Given the description of an element on the screen output the (x, y) to click on. 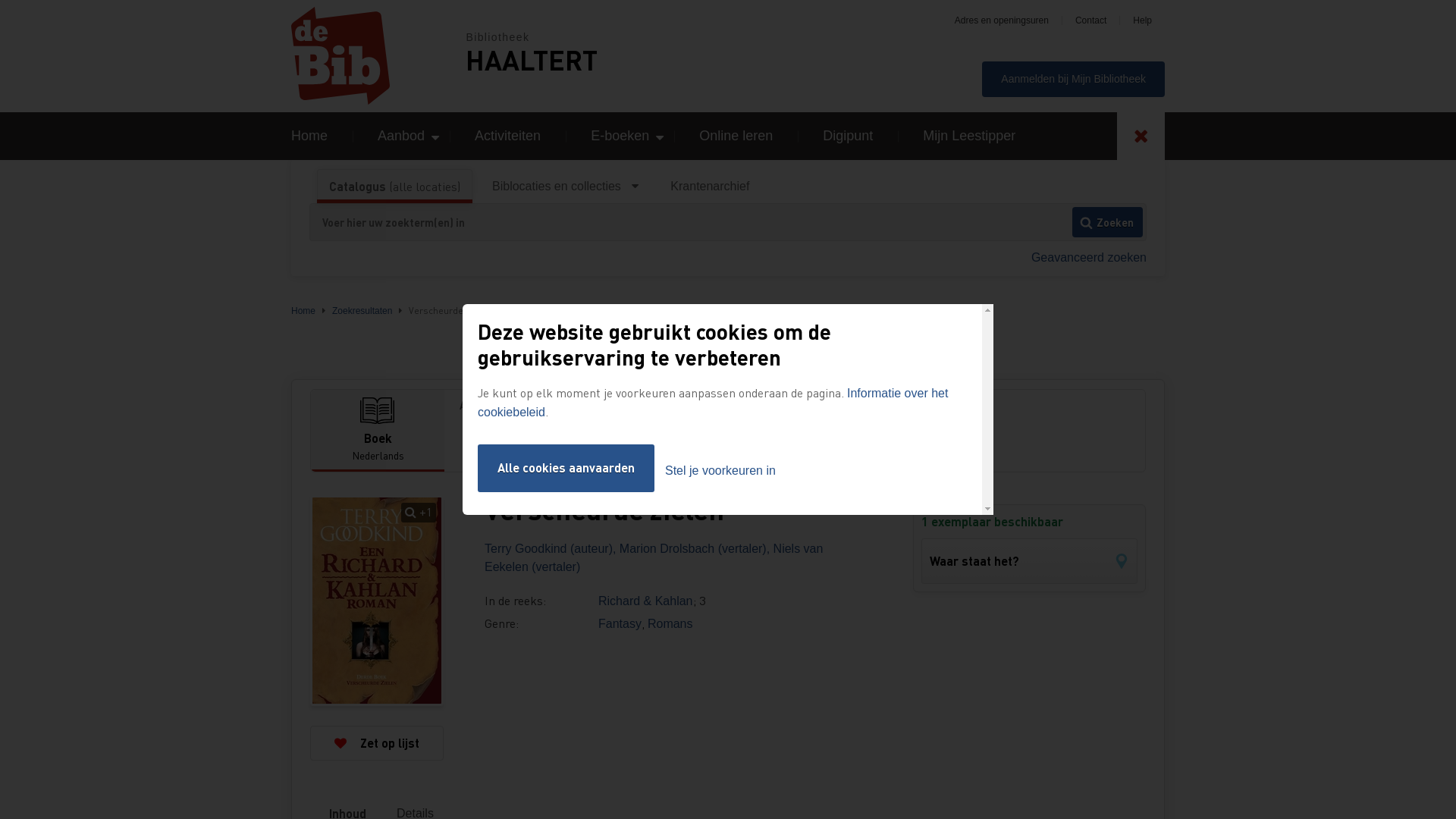
Biblocaties en collecties Element type: text (564, 186)
Digipunt Element type: text (847, 136)
Alle cookies aanvaarden Element type: text (565, 467)
Richard & Kahlan Element type: text (645, 600)
Krantenarchief Element type: text (709, 186)
Mijn Leestipper Element type: text (968, 136)
Romans Element type: text (670, 623)
Stel je voorkeuren in Element type: text (720, 470)
Terry Goodkind (auteur), Element type: text (551, 548)
Andere formaten Element type: text (794, 405)
Contact Element type: text (1090, 20)
Home Element type: hover (378, 55)
E-boek Element type: text (486, 442)
Niels van Eekelen (vertaler) Element type: text (653, 557)
Marion Drolsbach (vertaler), Element type: text (696, 548)
Home Element type: text (303, 310)
Zet op lijst Element type: text (376, 742)
Waar staat het? Element type: text (1029, 560)
Informatie over het cookiebeleid Element type: text (712, 402)
Toggle search Element type: hover (1140, 136)
Online leren Element type: text (735, 136)
Adres en openingsuren Element type: text (1001, 20)
Geavanceerd zoeken Element type: text (1088, 257)
Fantasy Element type: text (619, 623)
Catalogus (alle locaties) Element type: text (394, 186)
Zoekresultaten Element type: text (362, 310)
Activiteiten Element type: text (507, 136)
Zoeken Element type: text (1107, 222)
Aanmelden bij Mijn Bibliotheek Element type: text (1073, 79)
Help Element type: text (1141, 20)
Home Element type: text (309, 136)
Overslaan en naar zoeken gaan Element type: text (0, 0)
